Given the description of an element on the screen output the (x, y) to click on. 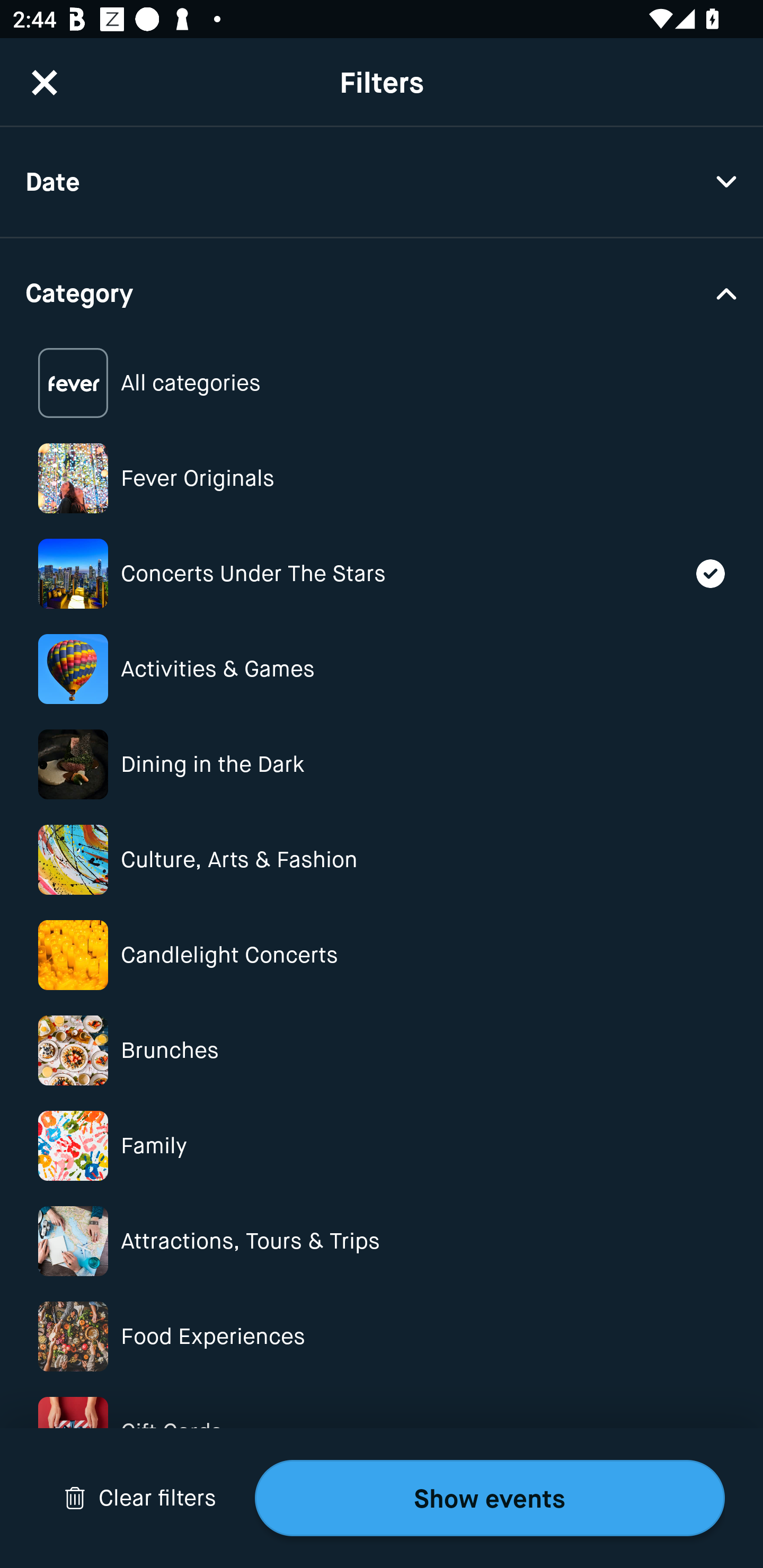
CloseButton (44, 82)
Date Drop Down Arrow (381, 182)
Category Drop Down Arrow (381, 291)
Category Image All categories (381, 382)
Category Image Fever Originals (381, 477)
Category Image Activities & Games (381, 668)
Category Image Dining in the Dark (381, 763)
Category Image Culture, Arts & Fashion (381, 859)
Category Image Candlelight Concerts (381, 954)
Category Image Brunches (381, 1050)
Category Image Family (381, 1145)
Category Image Attractions, Tours & Trips (381, 1240)
Category Image Food Experiences (381, 1336)
Drop Down Arrow Clear filters (139, 1497)
Show events (489, 1497)
